Given the description of an element on the screen output the (x, y) to click on. 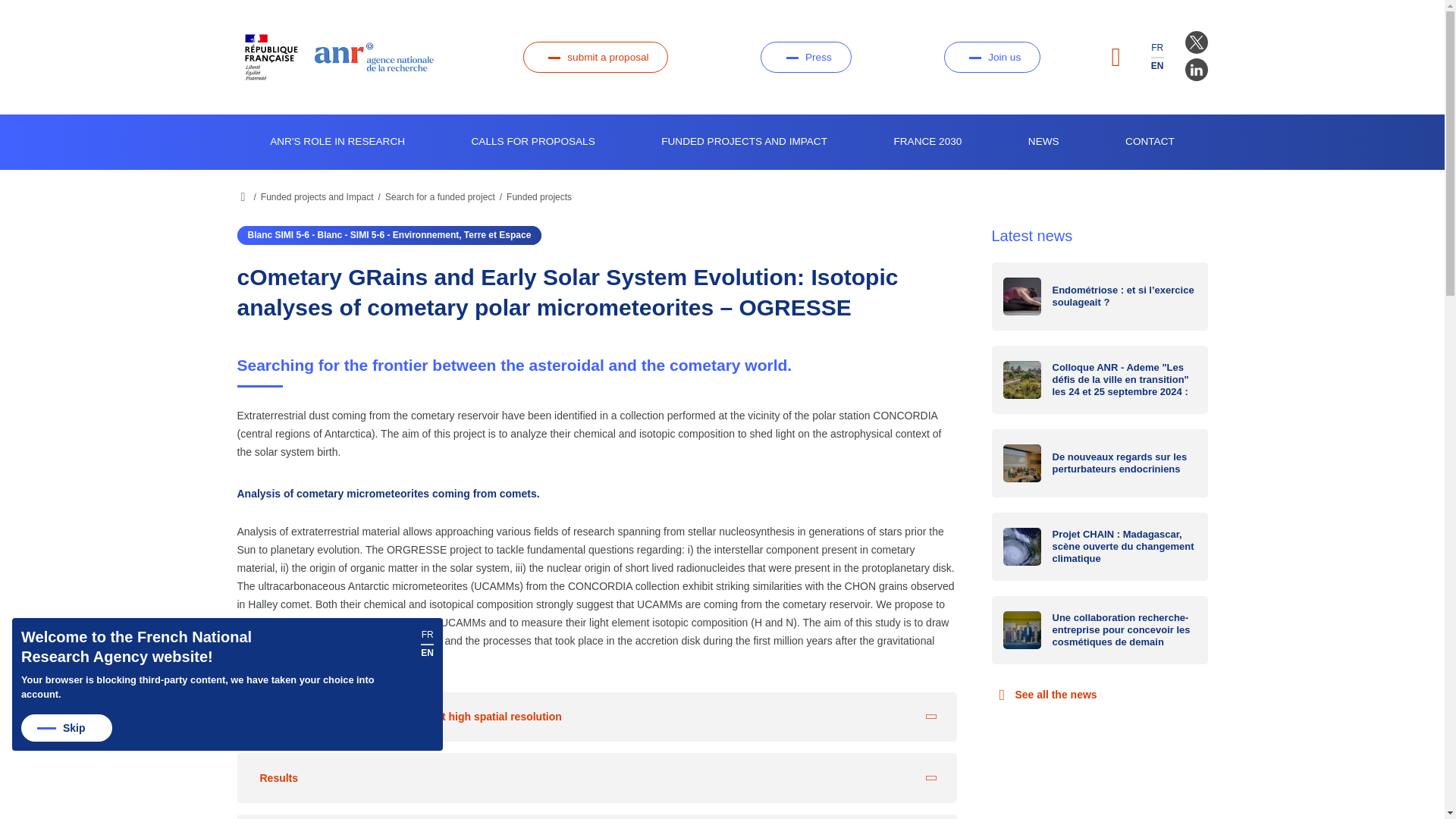
EN (1157, 65)
submit a proposal (595, 56)
ANR'S ROLE IN RESEARCH (336, 141)
De nouveaux regards sur les perturbateurs endocriniens (1099, 463)
Press (805, 56)
FR (1157, 47)
Join us (992, 56)
